Given the description of an element on the screen output the (x, y) to click on. 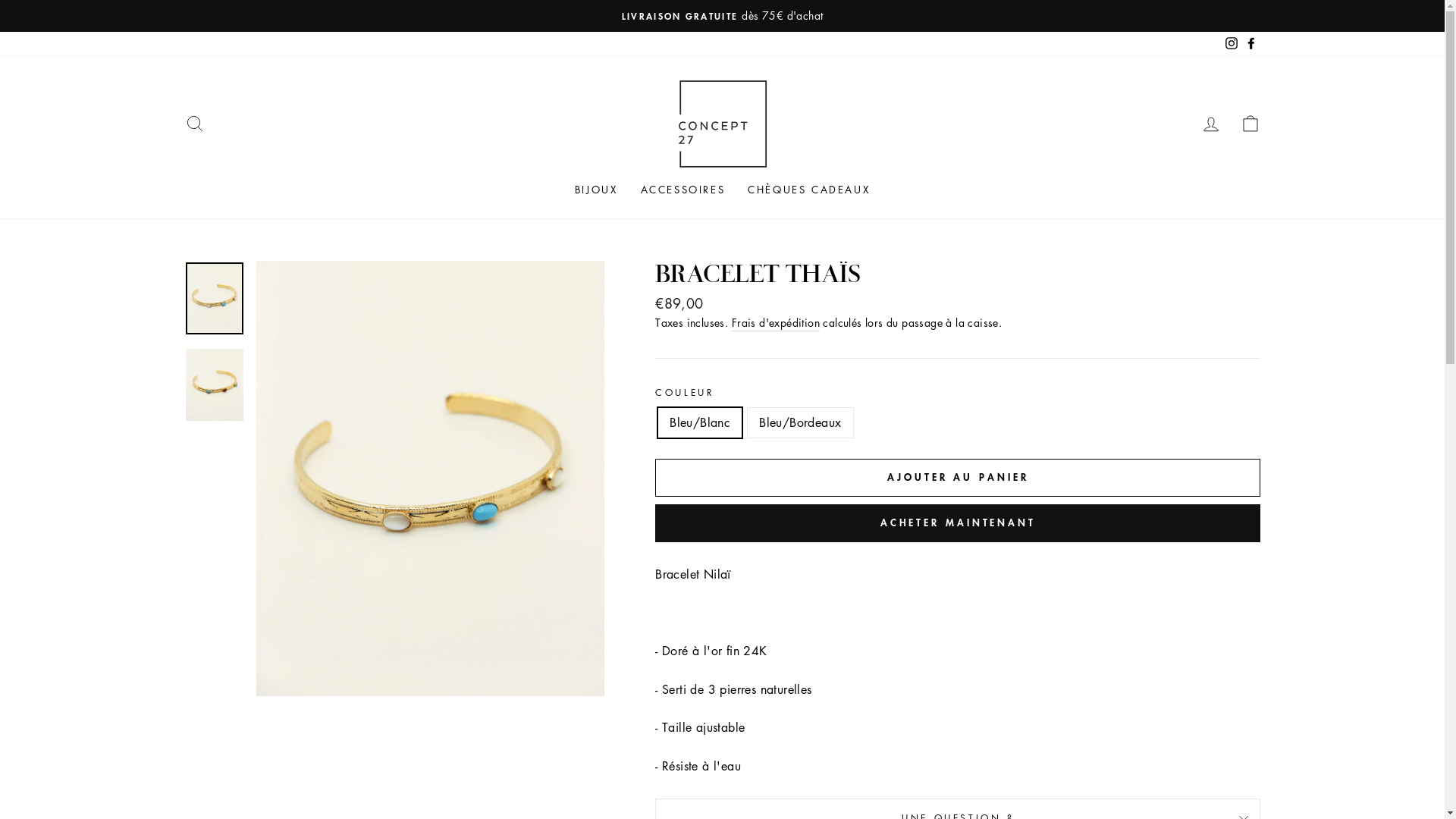
ACCESSOIRES Element type: text (683, 189)
Facebook Element type: text (1250, 43)
RECHERCHER Element type: text (193, 123)
Instagram Element type: text (1230, 43)
BIJOUX Element type: text (596, 189)
SE CONNECTER Element type: text (1210, 123)
ACHETER MAINTENANT Element type: text (957, 523)
Passer au contenu Element type: text (0, 0)
AJOUTER AU PANIER Element type: text (957, 477)
PANIER Element type: text (1249, 123)
